Given the description of an element on the screen output the (x, y) to click on. 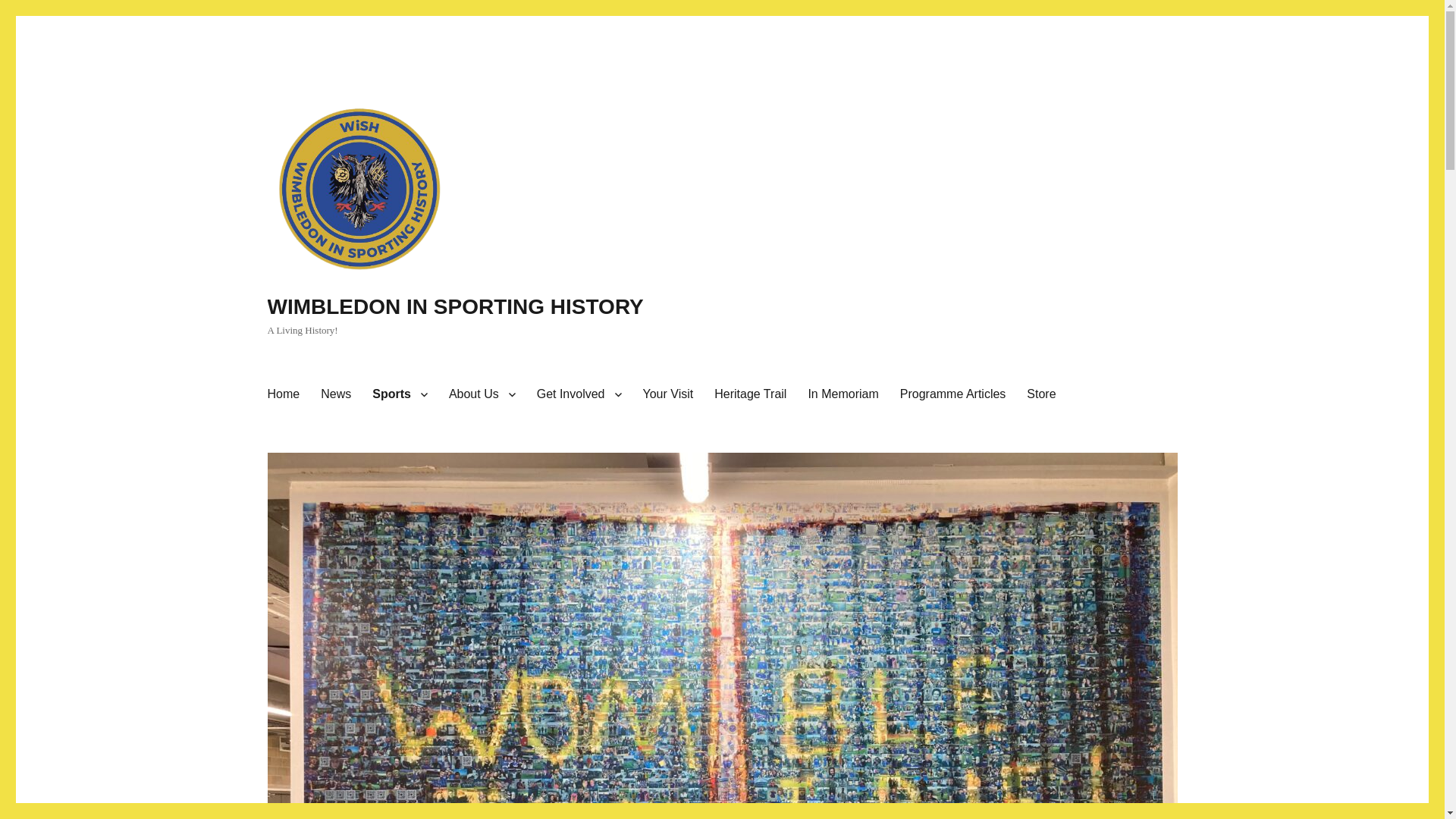
Home (283, 394)
Sports (399, 394)
In Memoriam (842, 394)
Get Involved (578, 394)
Your Visit (667, 394)
Heritage Trail (749, 394)
WIMBLEDON IN SPORTING HISTORY (454, 306)
News (335, 394)
About Us (481, 394)
Store (1040, 394)
